Given the description of an element on the screen output the (x, y) to click on. 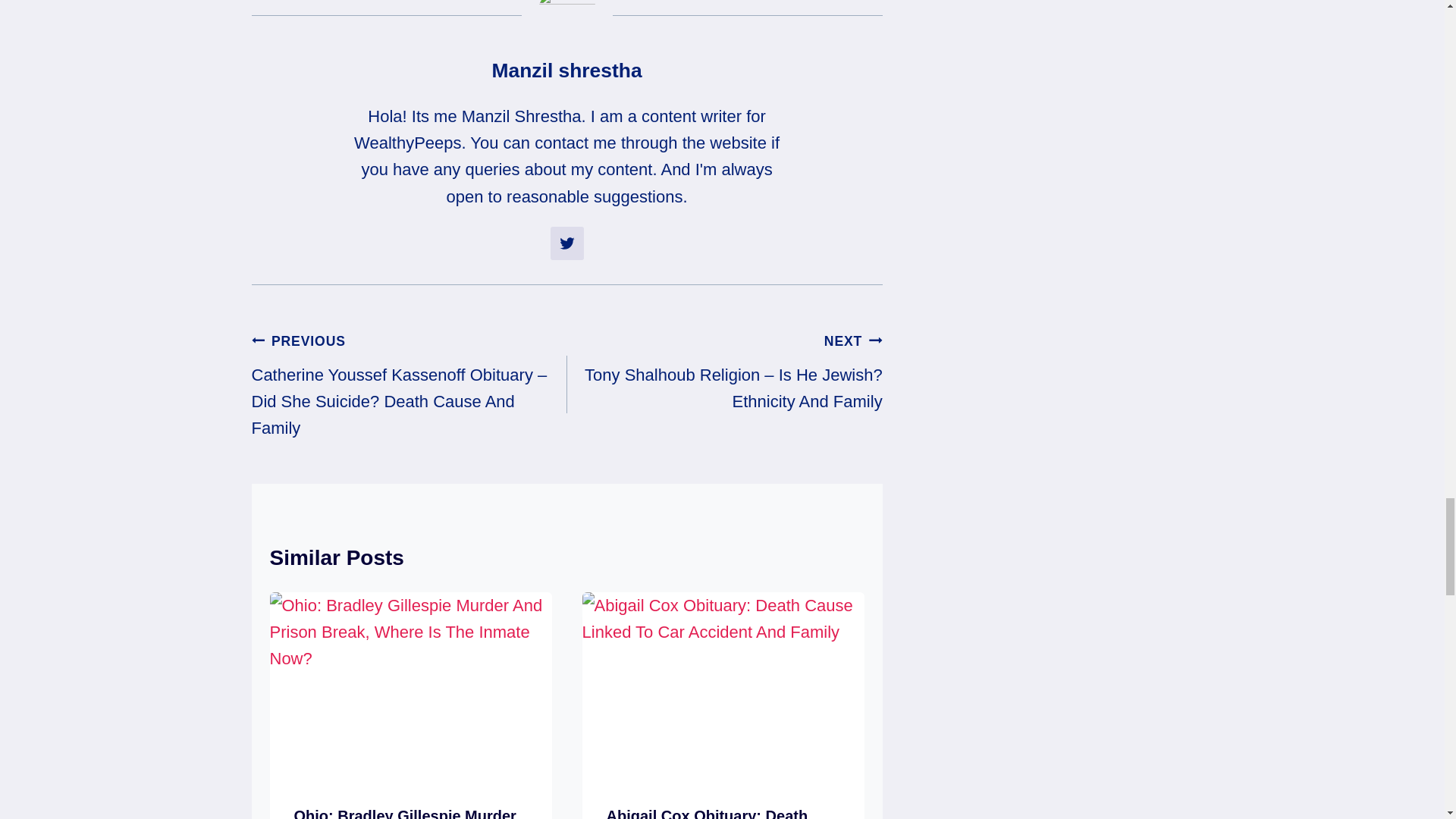
Follow Manzil shrestha on Twitter (566, 243)
Manzil shrestha (567, 69)
Posts by Manzil shrestha (567, 69)
